Given the description of an element on the screen output the (x, y) to click on. 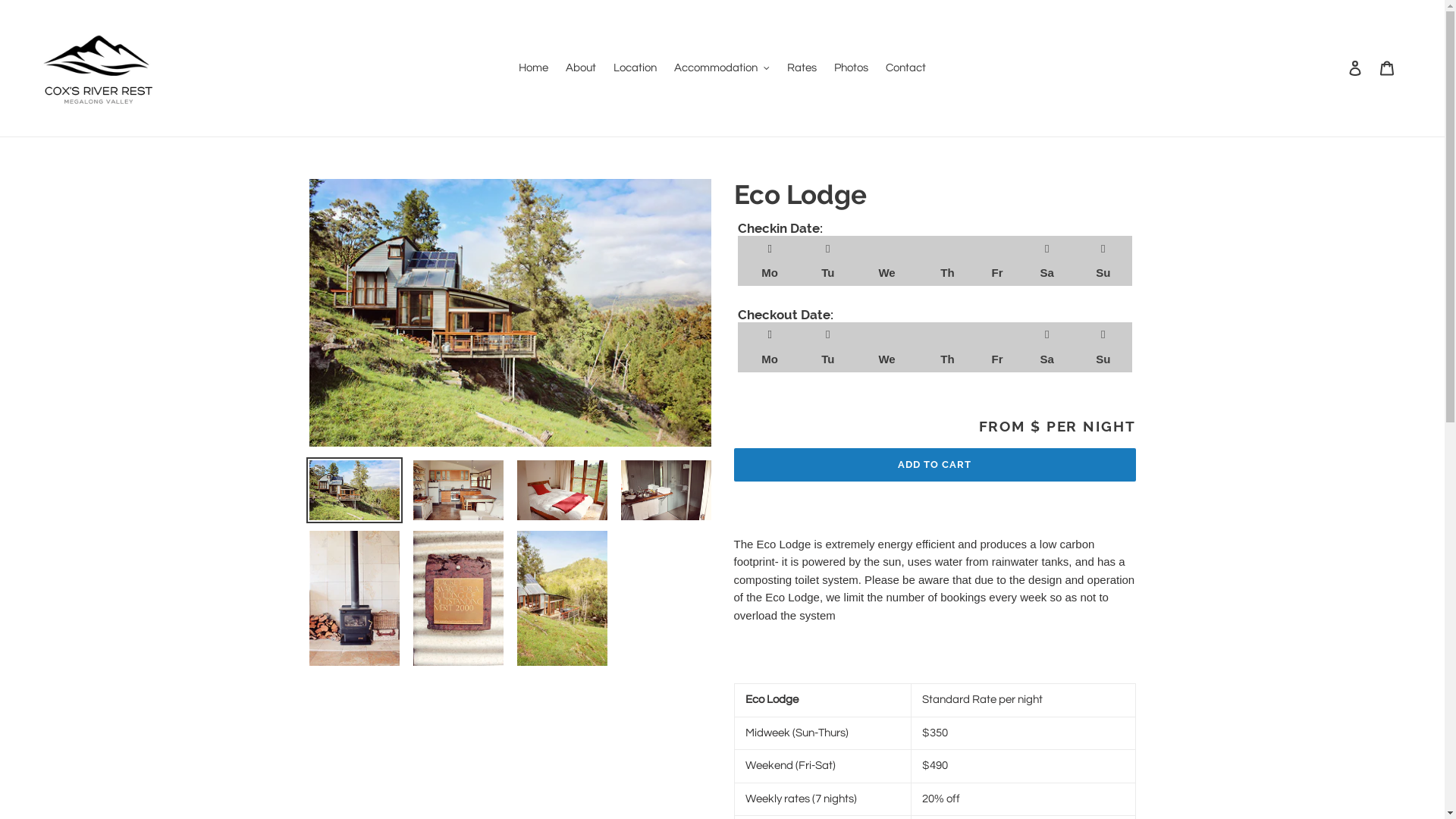
Rates Element type: text (801, 68)
Home Element type: text (533, 68)
ADD TO CART Element type: text (934, 464)
Log in Element type: text (1355, 68)
Cart Element type: text (1386, 68)
Location Element type: text (634, 68)
About Element type: text (580, 68)
Search Element type: text (1334, 68)
Photos Element type: text (850, 68)
Contact Element type: text (905, 68)
Accommodation Element type: text (721, 68)
